Given the description of an element on the screen output the (x, y) to click on. 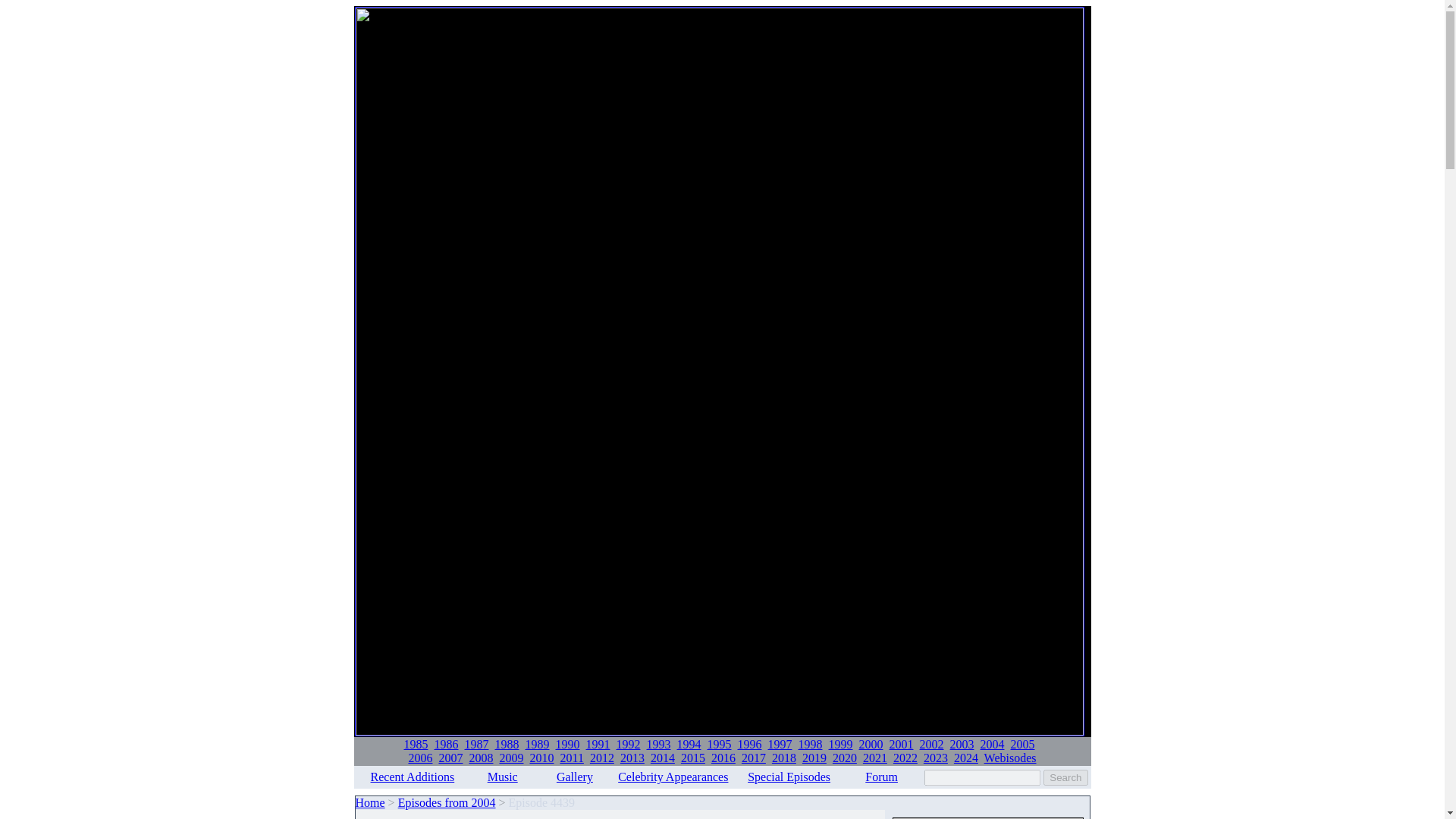
2019 (814, 757)
1989 (536, 744)
2003 (961, 744)
Search (1065, 776)
2023 (935, 757)
2001 (900, 744)
1987 (475, 744)
2009 (510, 757)
2022 (905, 757)
1995 (718, 744)
1997 (779, 744)
1992 (627, 744)
2005 (1021, 744)
2006 (419, 757)
1999 (839, 744)
